Given the description of an element on the screen output the (x, y) to click on. 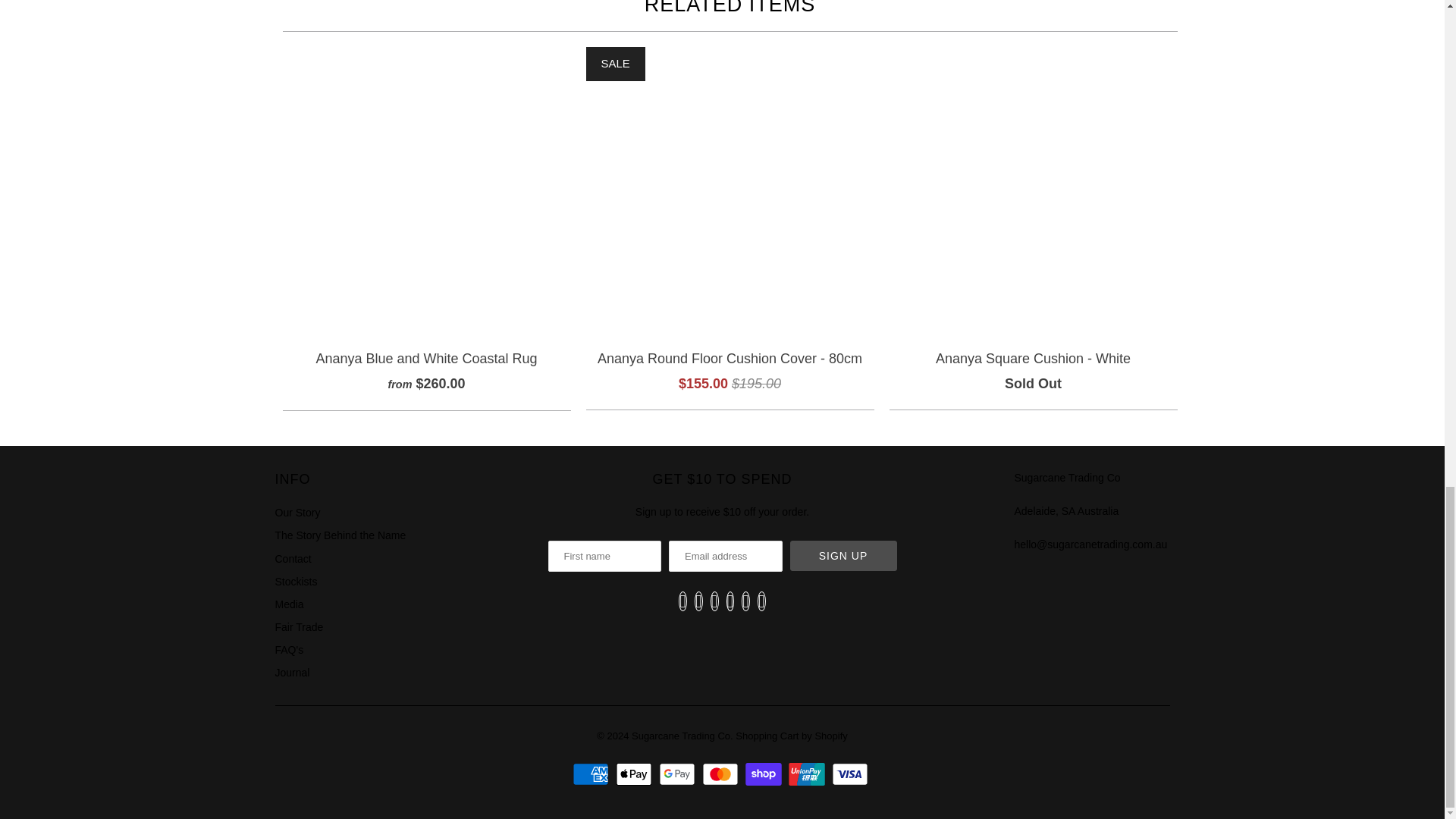
Shop Pay (765, 773)
Visa (851, 773)
Sign Up (843, 555)
Mastercard (721, 773)
Union Pay (808, 773)
Google Pay (678, 773)
American Express (592, 773)
Apple Pay (635, 773)
